Given the description of an element on the screen output the (x, y) to click on. 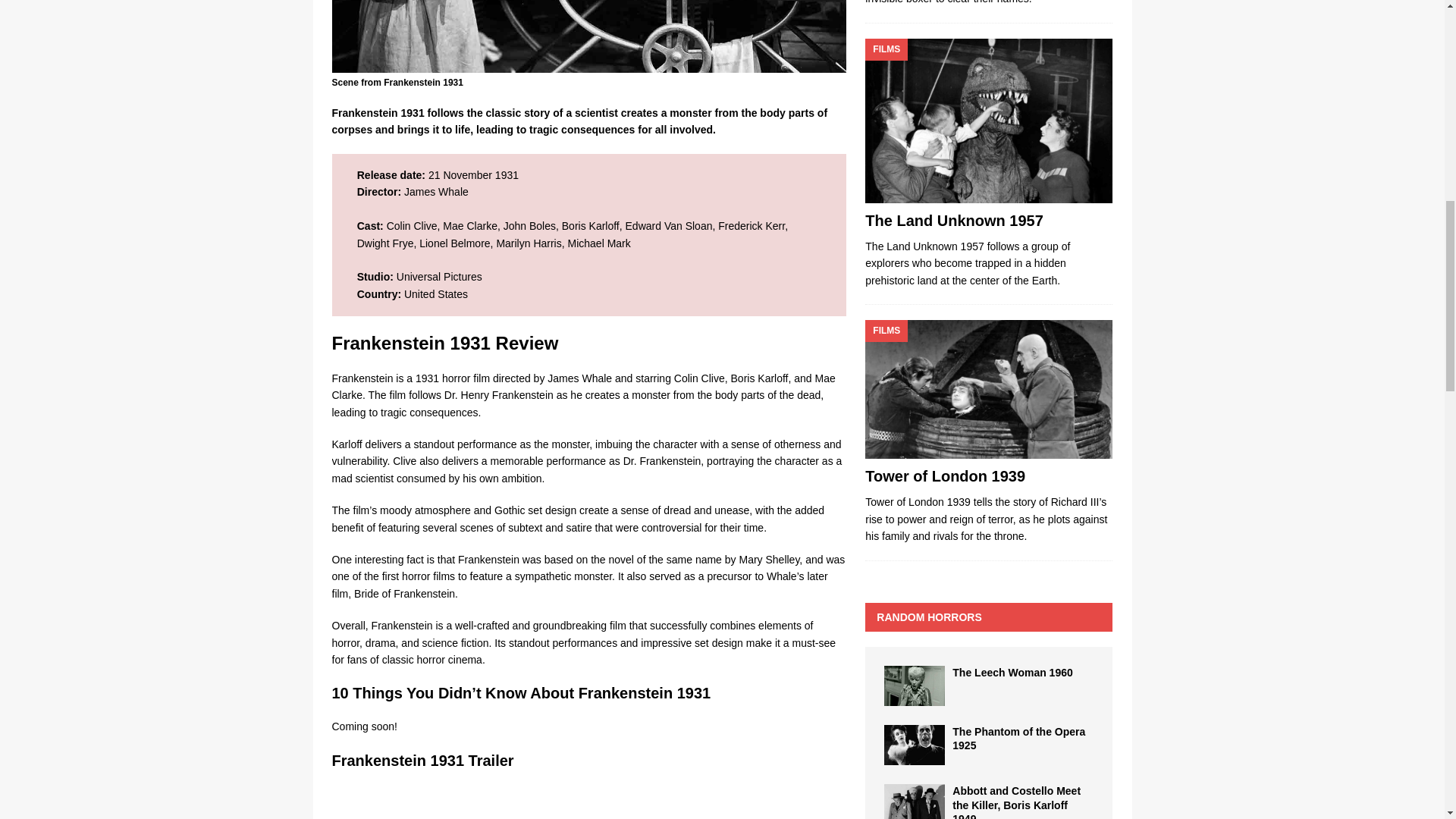
Scene from Frankenstein 1931 (588, 36)
